Given the description of an element on the screen output the (x, y) to click on. 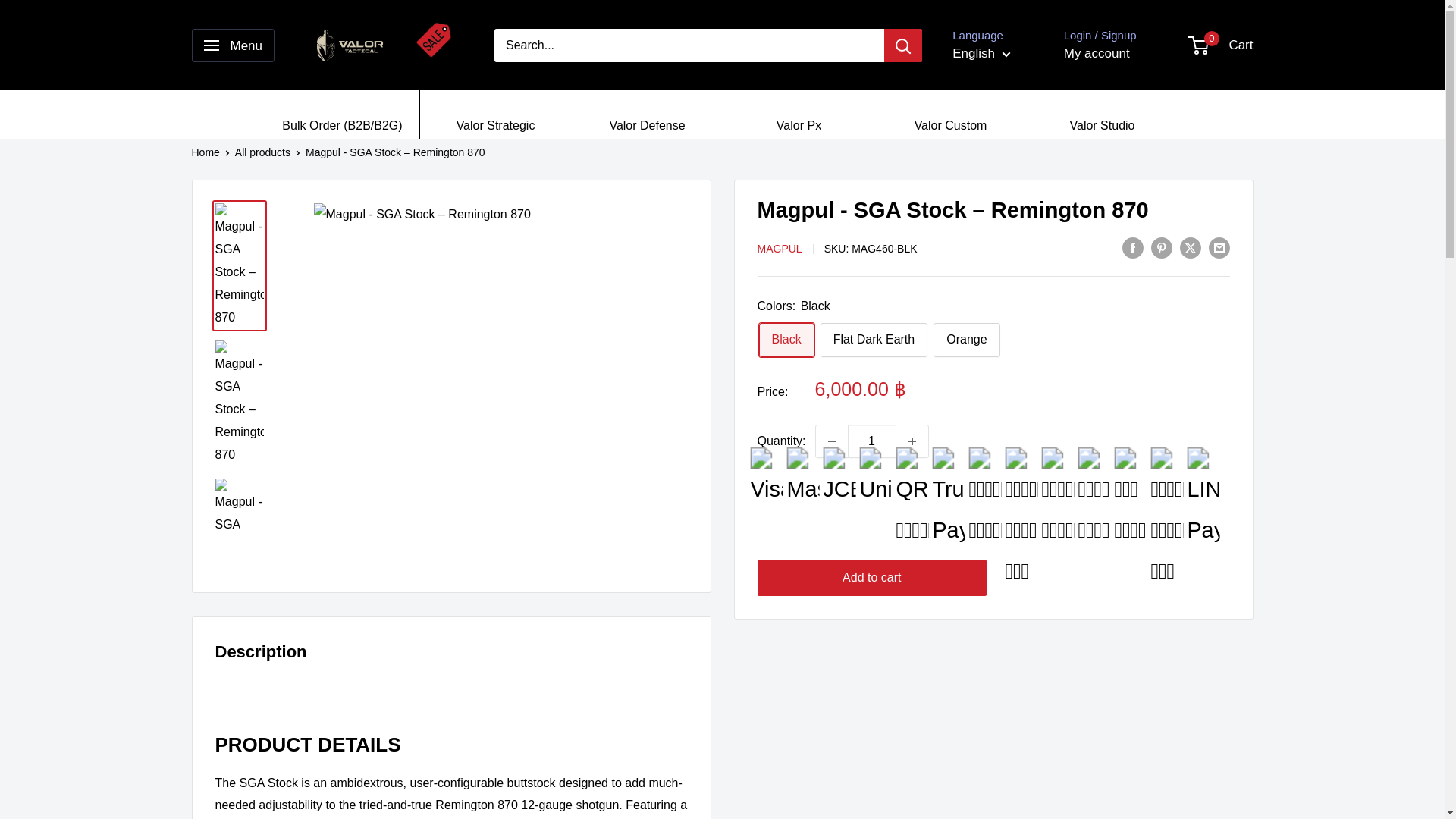
Orange (965, 339)
Increase quantity by 1 (912, 441)
Black (785, 339)
Flat Dark Earth (874, 339)
1 (871, 441)
Decrease quantity by 1 (831, 441)
